Given the description of an element on the screen output the (x, y) to click on. 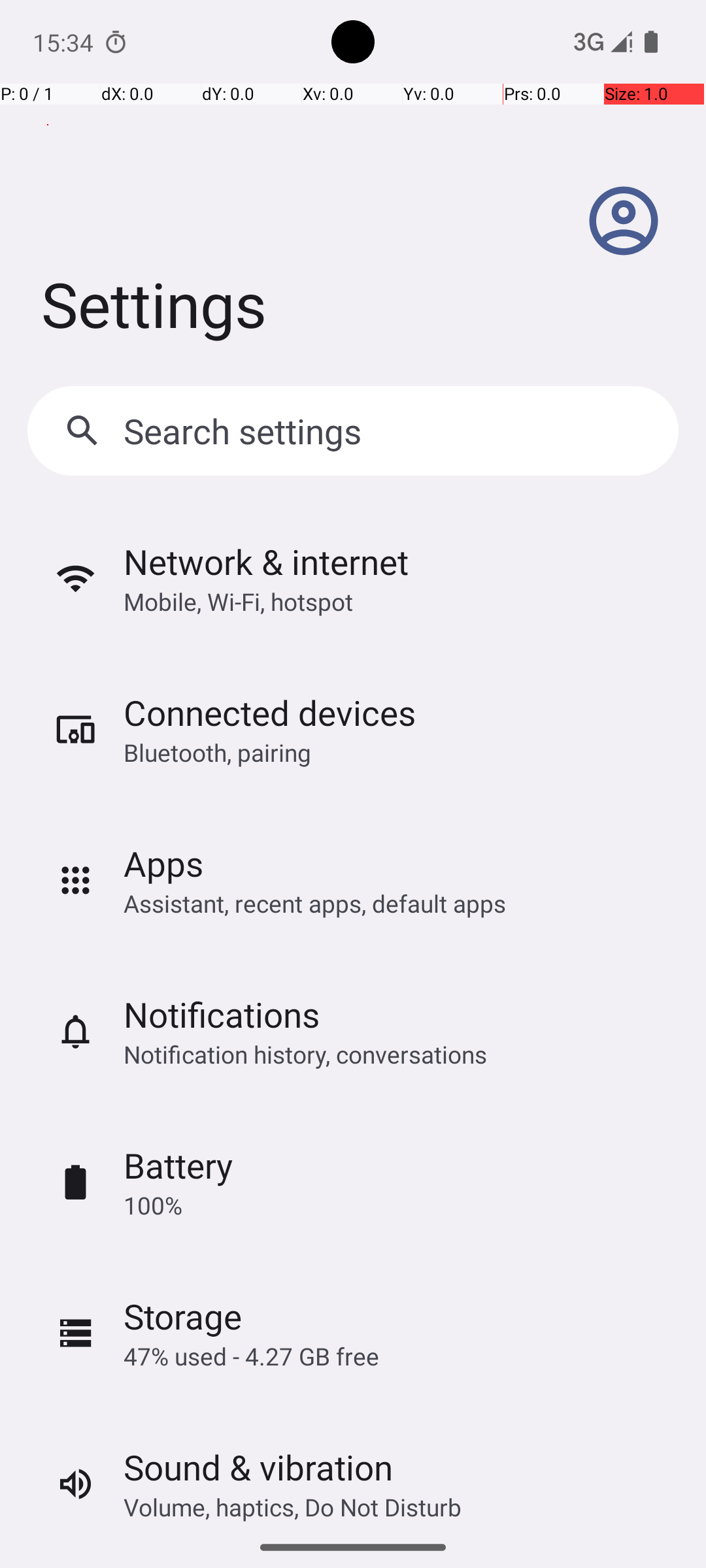
47% used - 4.27 GB free Element type: android.widget.TextView (251, 1355)
